Given the description of an element on the screen output the (x, y) to click on. 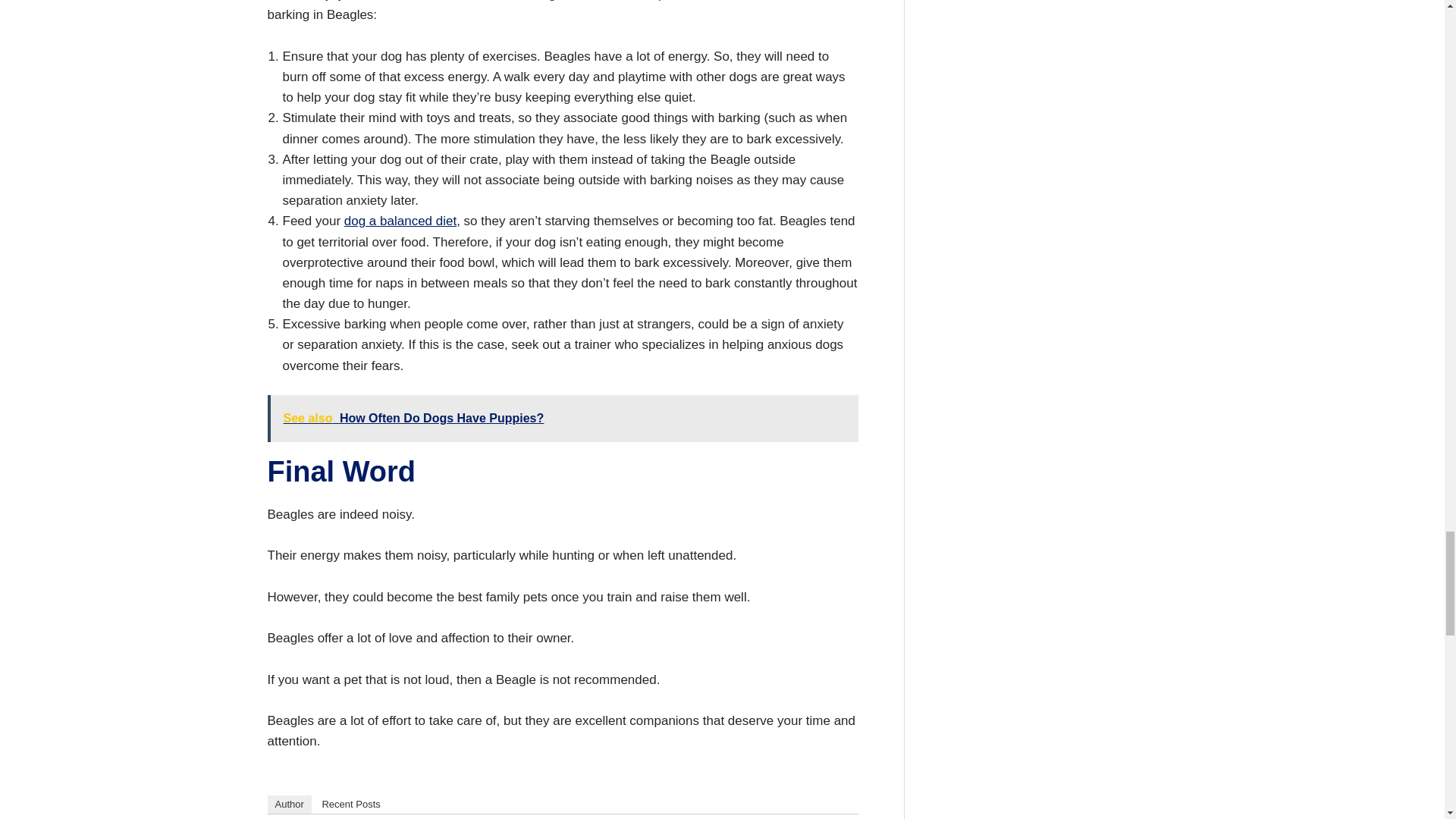
dog a balanced diet (400, 220)
See also  How Often Do Dogs Have Puppies? (561, 417)
Author (288, 804)
Recent Posts (350, 804)
